Given the description of an element on the screen output the (x, y) to click on. 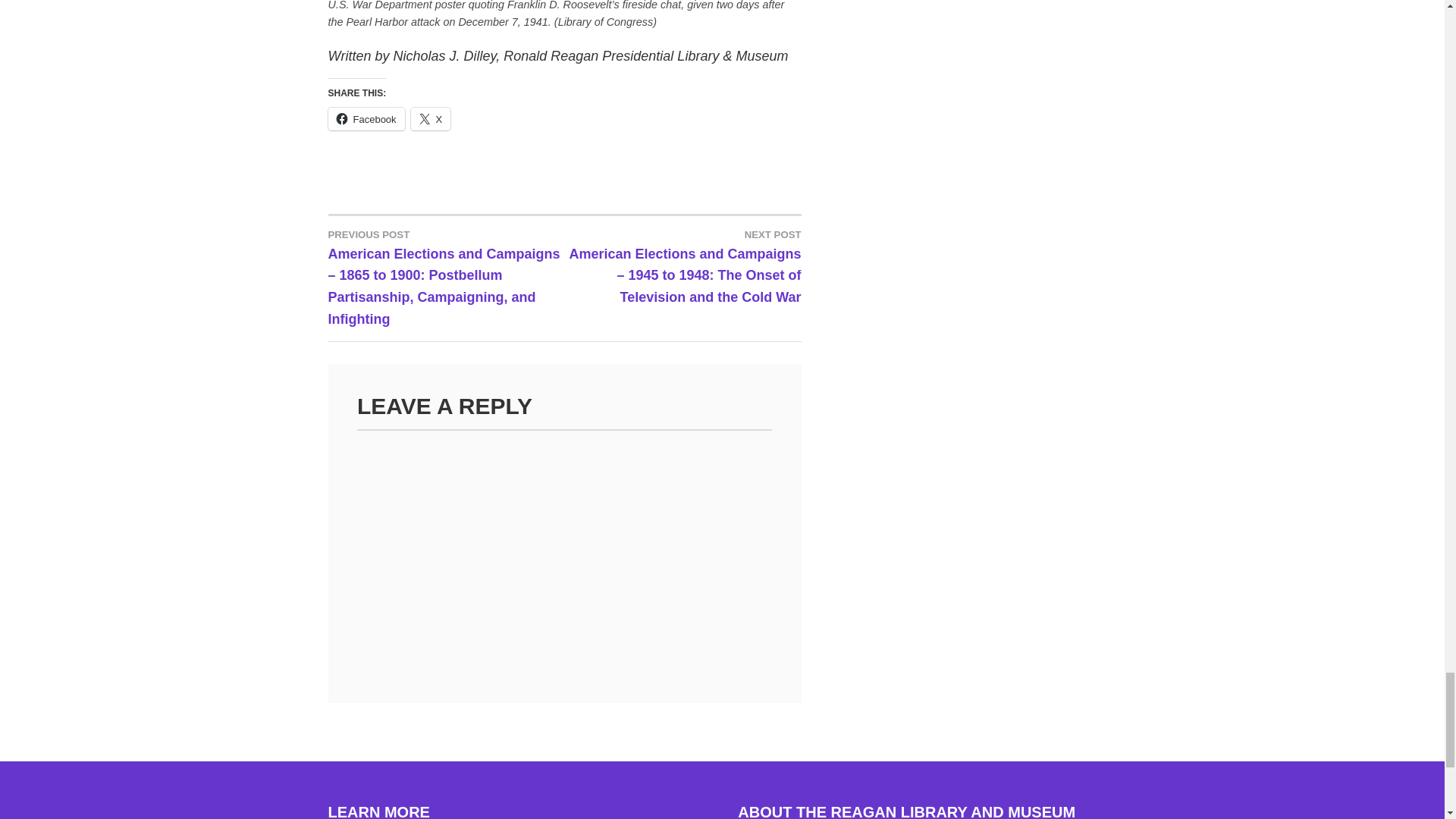
Click to share on Facebook (365, 118)
X (430, 118)
Facebook (365, 118)
Click to share on X (430, 118)
Comment Form (563, 548)
